Given the description of an element on the screen output the (x, y) to click on. 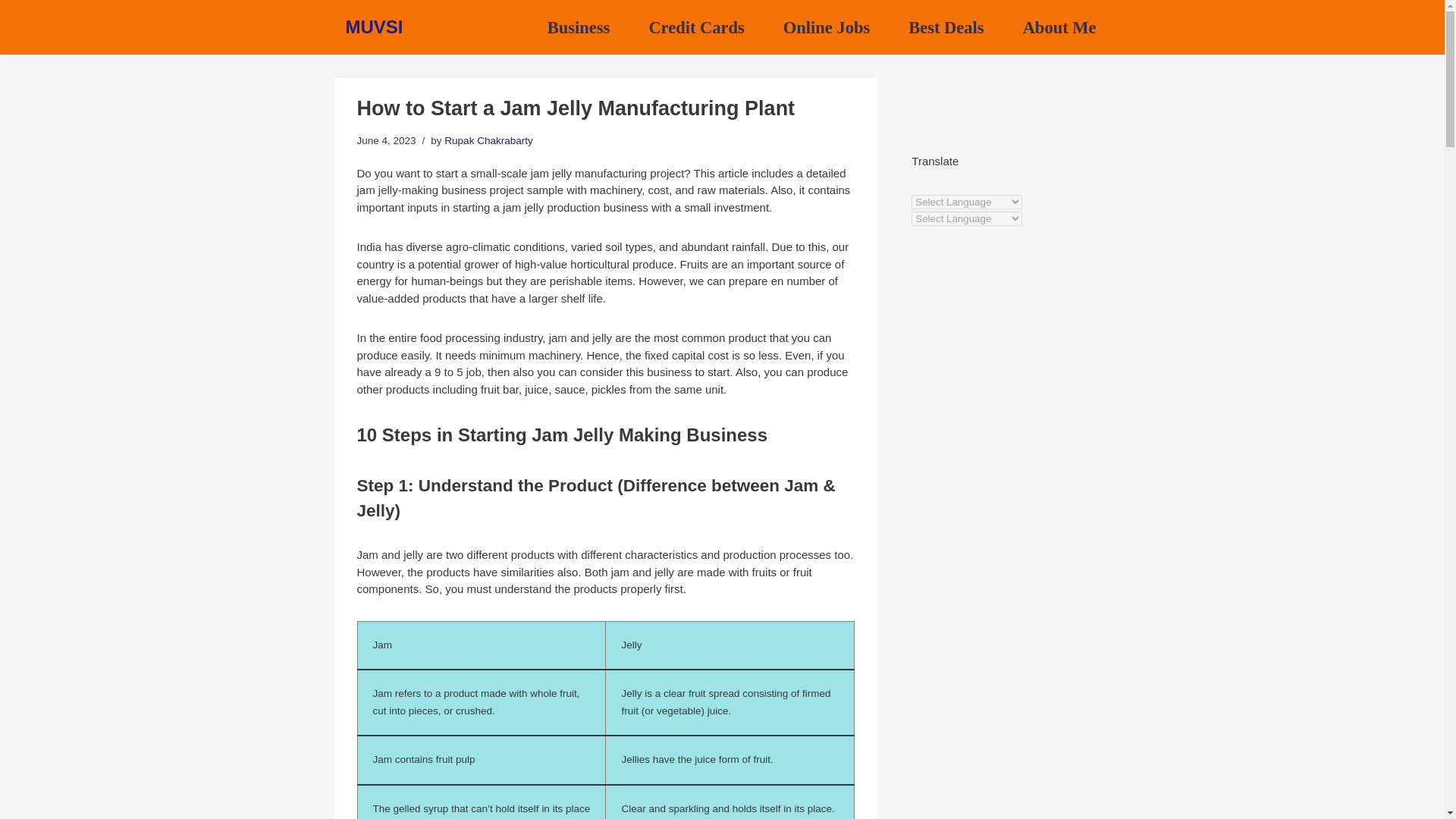
MUVSI (374, 26)
Rupak Chakrabarty (488, 140)
Business (578, 27)
Online Jobs (826, 27)
About Me (1059, 27)
Credit Cards (695, 27)
Posts by Rupak Chakrabarty (488, 140)
Best Deals (946, 27)
Skip to content (11, 31)
